Given the description of an element on the screen output the (x, y) to click on. 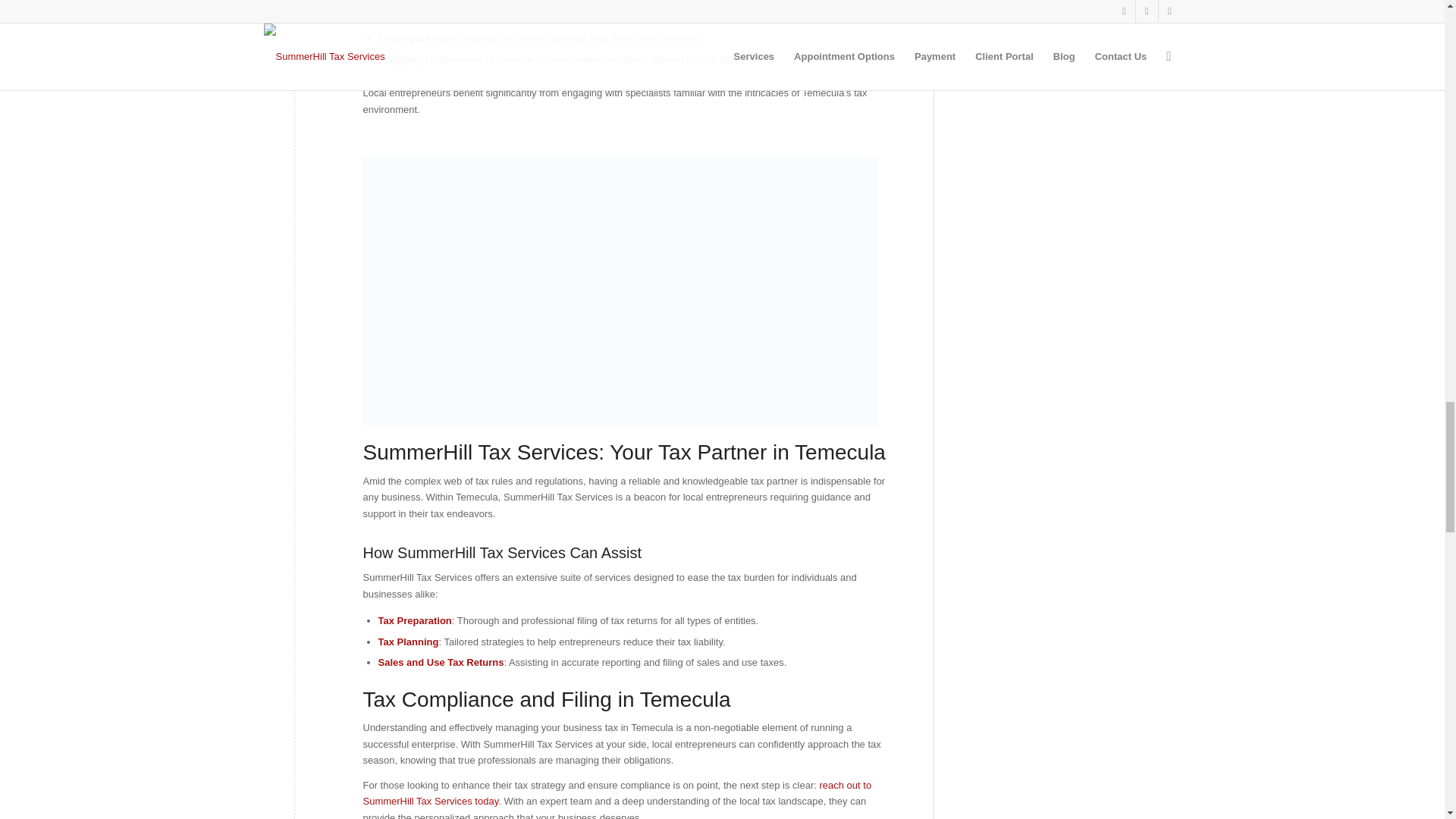
reach out to SummerHill Tax Services today (616, 792)
